Given the description of an element on the screen output the (x, y) to click on. 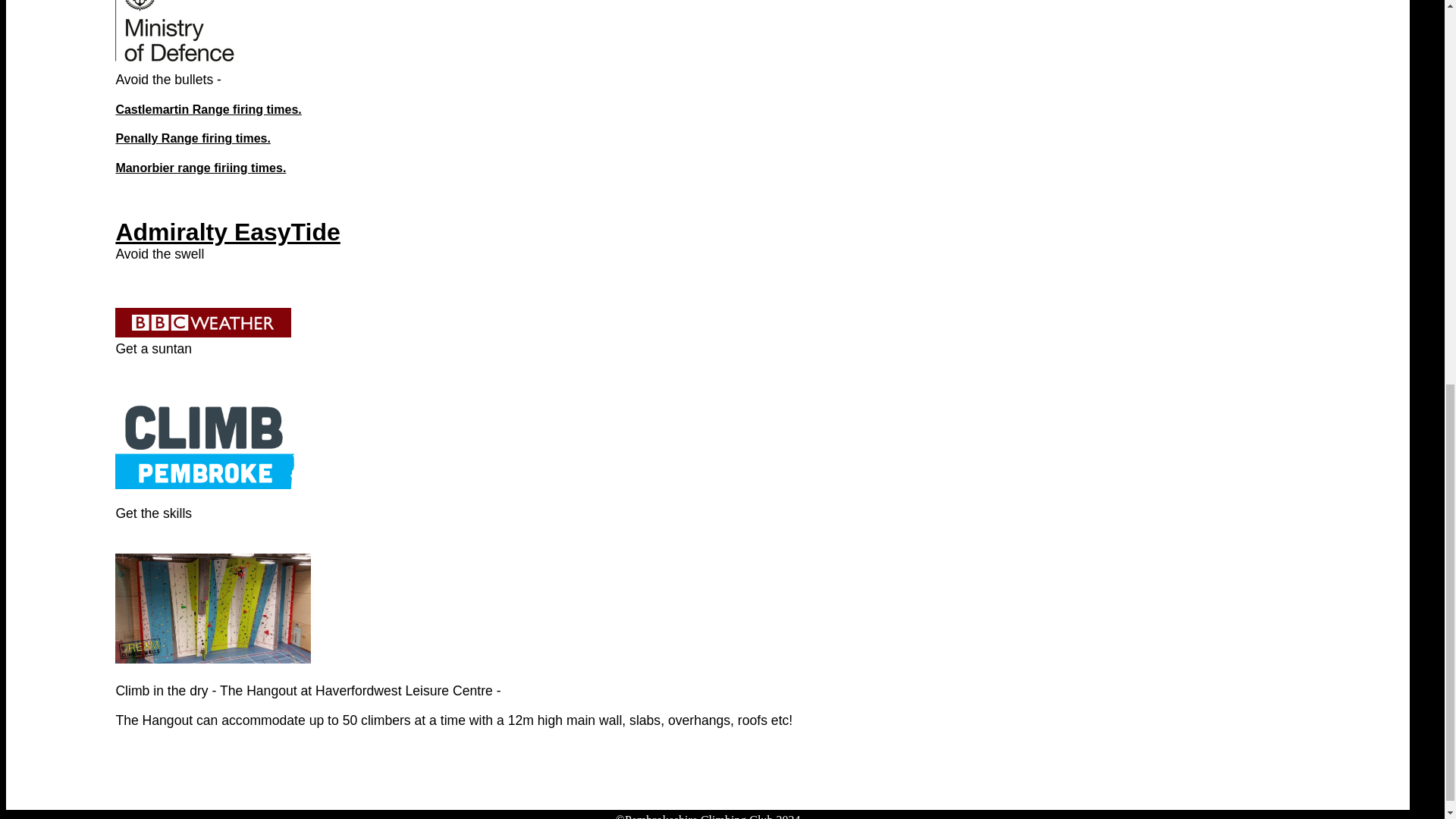
Castlemartin Range firing times. (208, 109)
Manorbier range firiing times. (200, 167)
Penally Range firing times. (192, 137)
Admiralty EasyTide (227, 231)
